Given the description of an element on the screen output the (x, y) to click on. 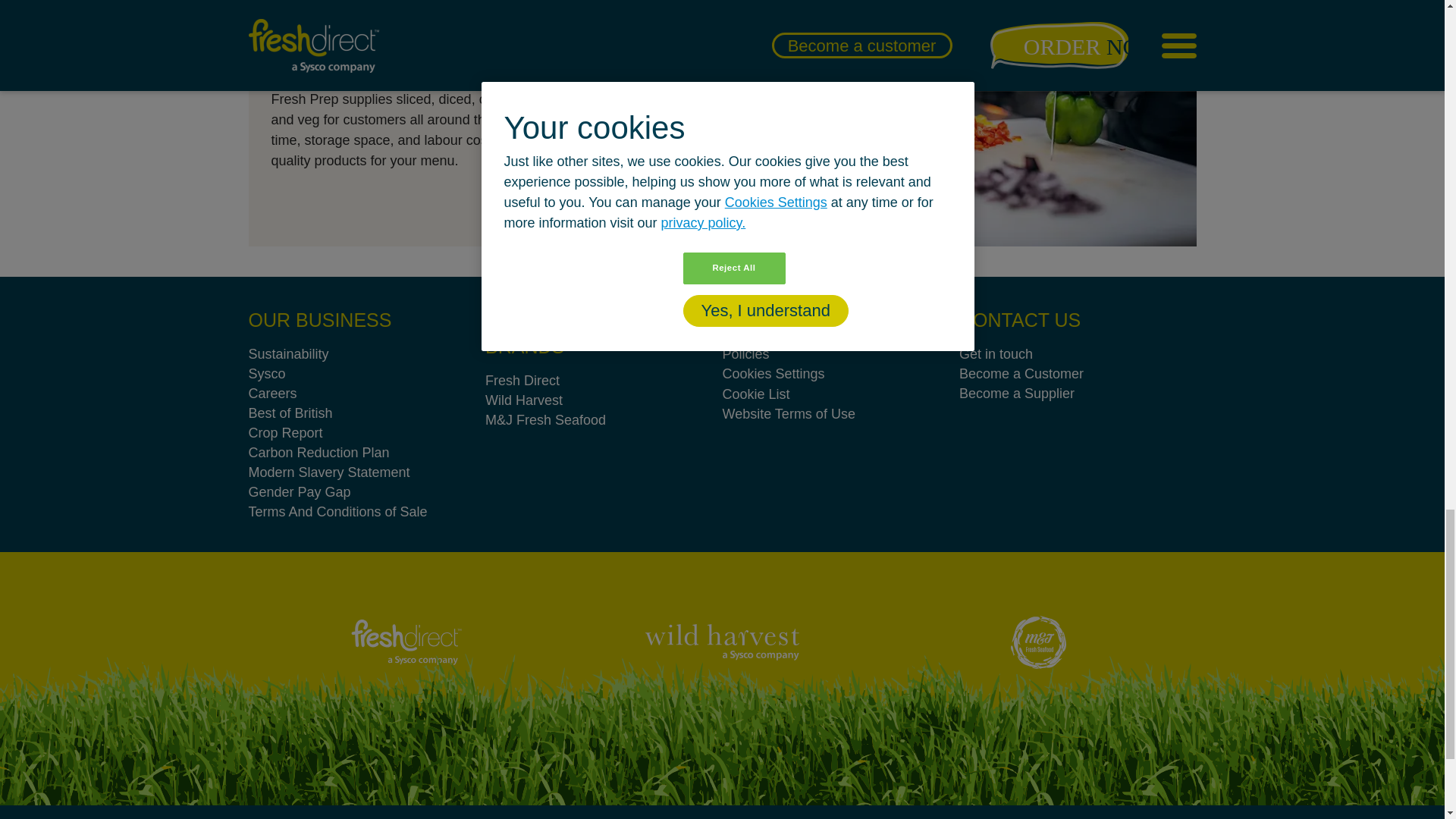
Modern Slavery Statement (367, 472)
Best of British (367, 413)
Carbon Reduction Plan (367, 452)
Sustainability (367, 353)
Fresh Direct (603, 380)
Gender Pay Gap (367, 492)
Wild Harvest (722, 642)
Careers (367, 393)
Terms And Conditions of Sale (367, 511)
Crop Report (367, 433)
Sysco (367, 373)
Fresh Direct (406, 642)
